Given the description of an element on the screen output the (x, y) to click on. 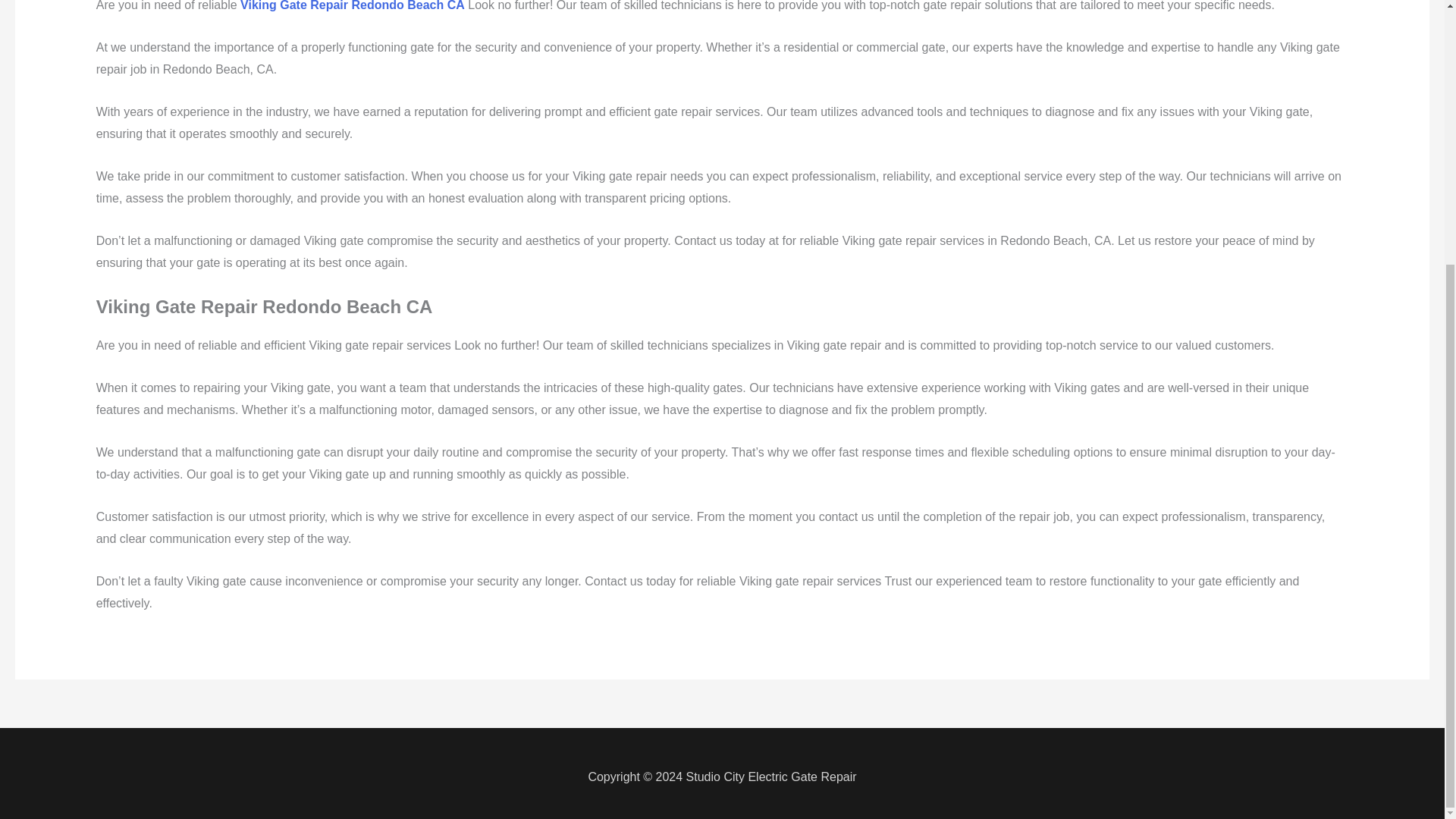
Viking Gate Repair Redondo Beach CA (352, 5)
